Given the description of an element on the screen output the (x, y) to click on. 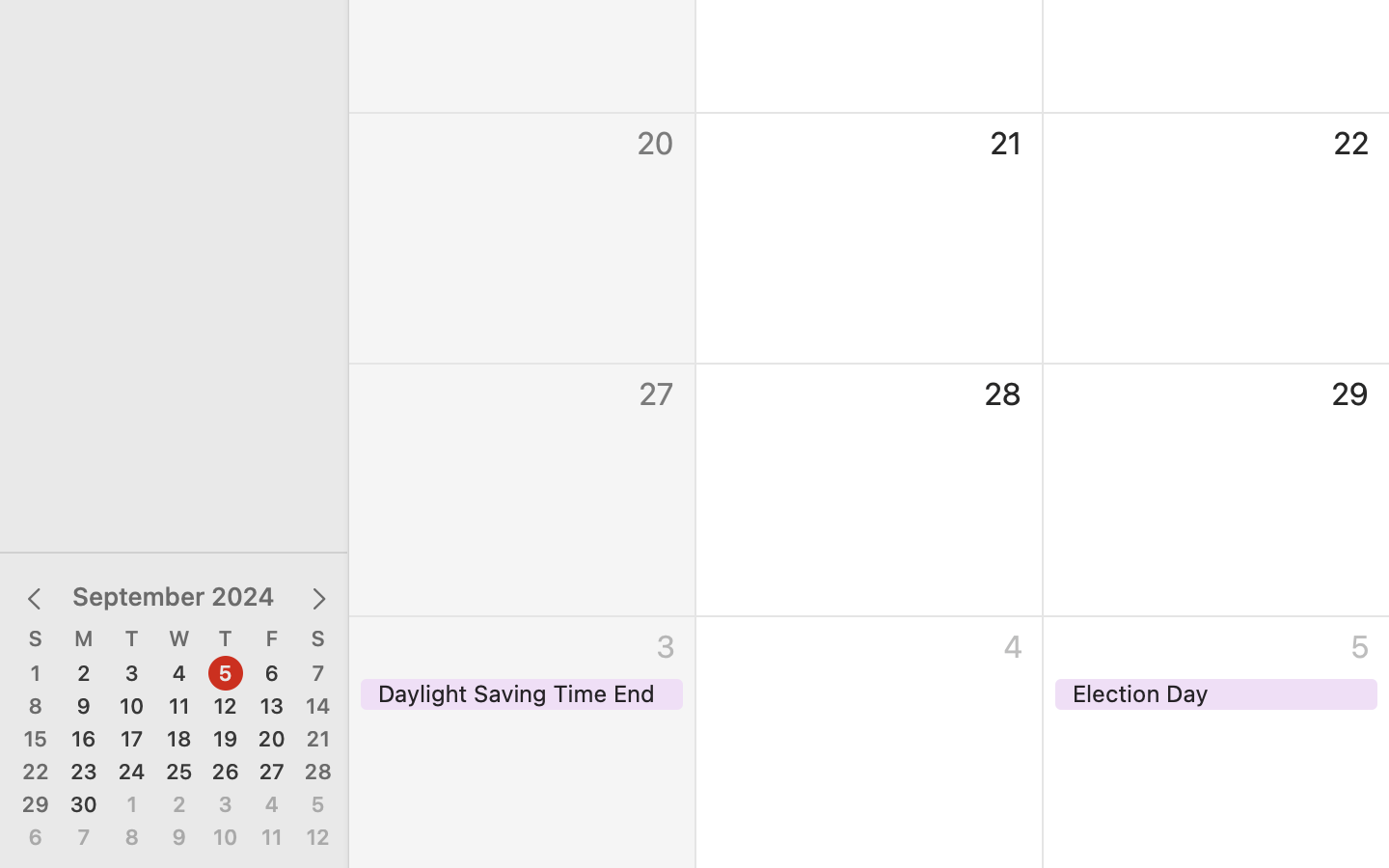
17 Element type: AXStaticText (132, 739)
